Given the description of an element on the screen output the (x, y) to click on. 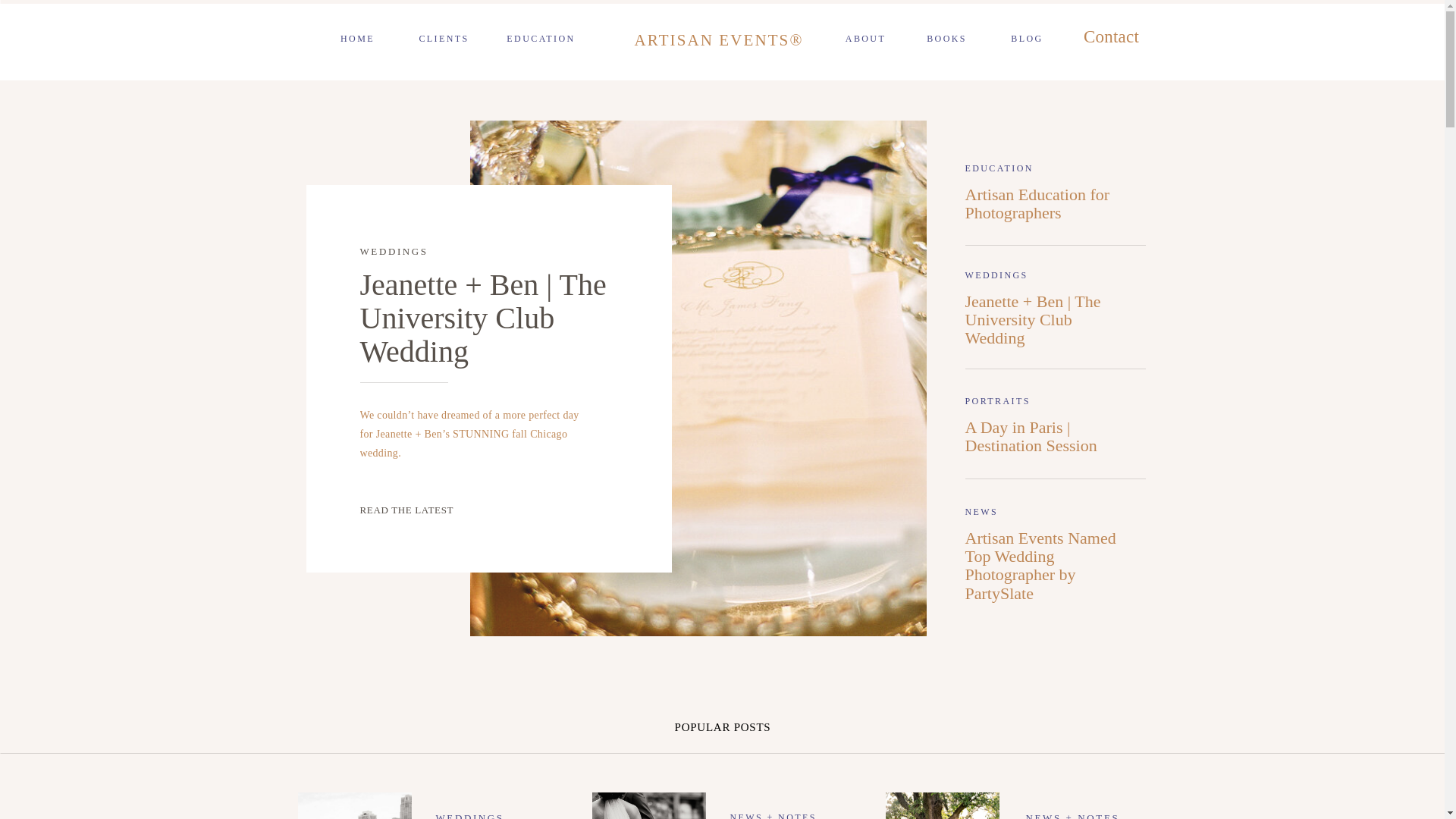
READ THE LATEST (431, 514)
Contact (1110, 39)
WEDDINGS (469, 815)
WEDDINGS (393, 251)
CLIENTS (443, 40)
Artisan Events Named Top Wedding Photographer by PartySlate (1048, 551)
EDUCATION (540, 40)
BLOG (1027, 40)
ABOUT (865, 40)
To film or not to film? (941, 805)
HOME (357, 40)
Artisan Education for Photographers (1048, 207)
BOOKS (947, 40)
